Given the description of an element on the screen output the (x, y) to click on. 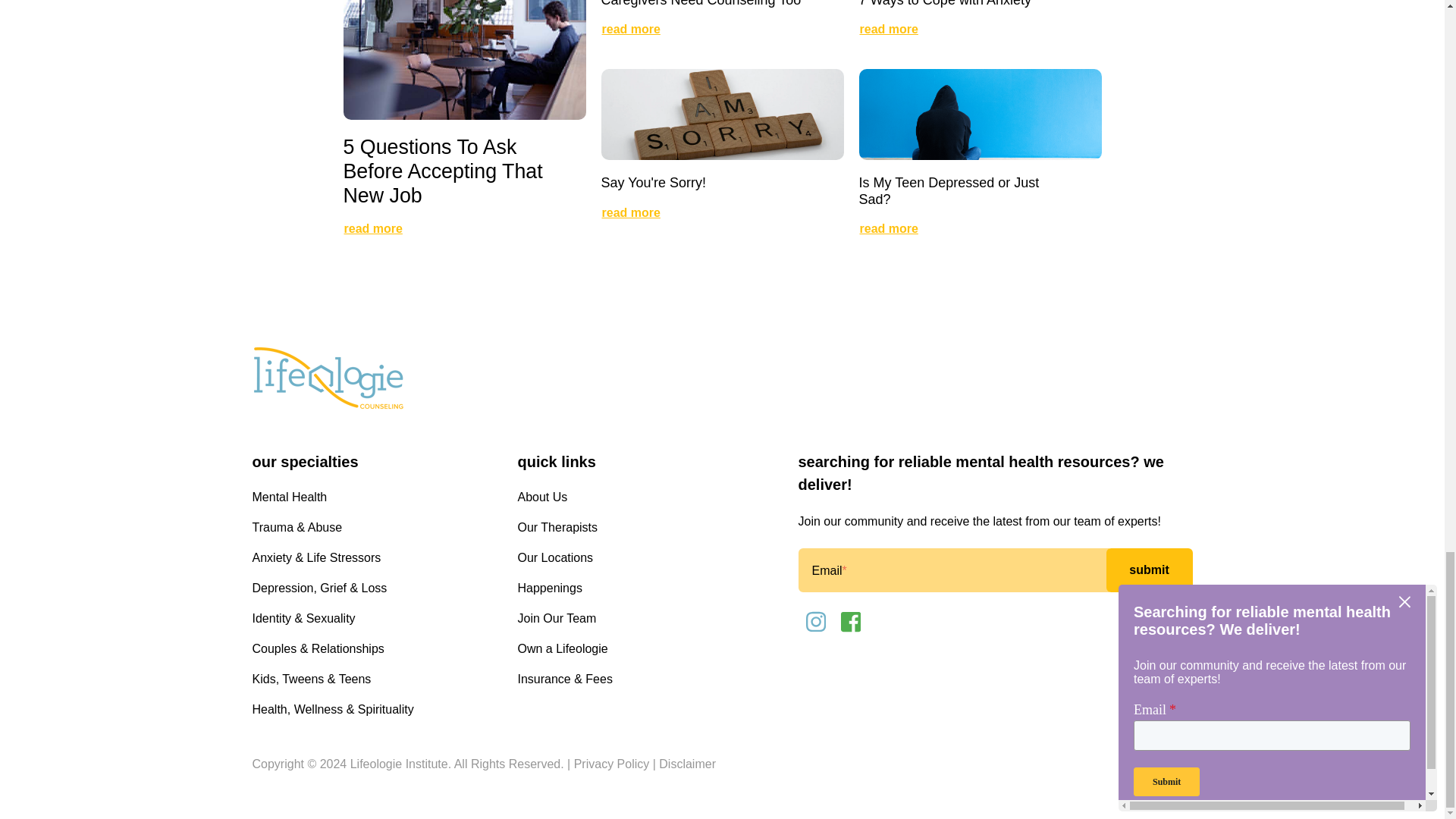
wefixbrains.comhs-fshubfsLifeologie main logo-3-4 (327, 378)
Is My Teen Depressed or Just Sad? (949, 191)
Say You're Sorry! (652, 182)
Submit (1148, 569)
Caregivers Need Counseling Too (699, 3)
7 Ways to Cope with Anxiety (944, 3)
5 Questions To Ask Before Accepting That New Job (441, 171)
